Given the description of an element on the screen output the (x, y) to click on. 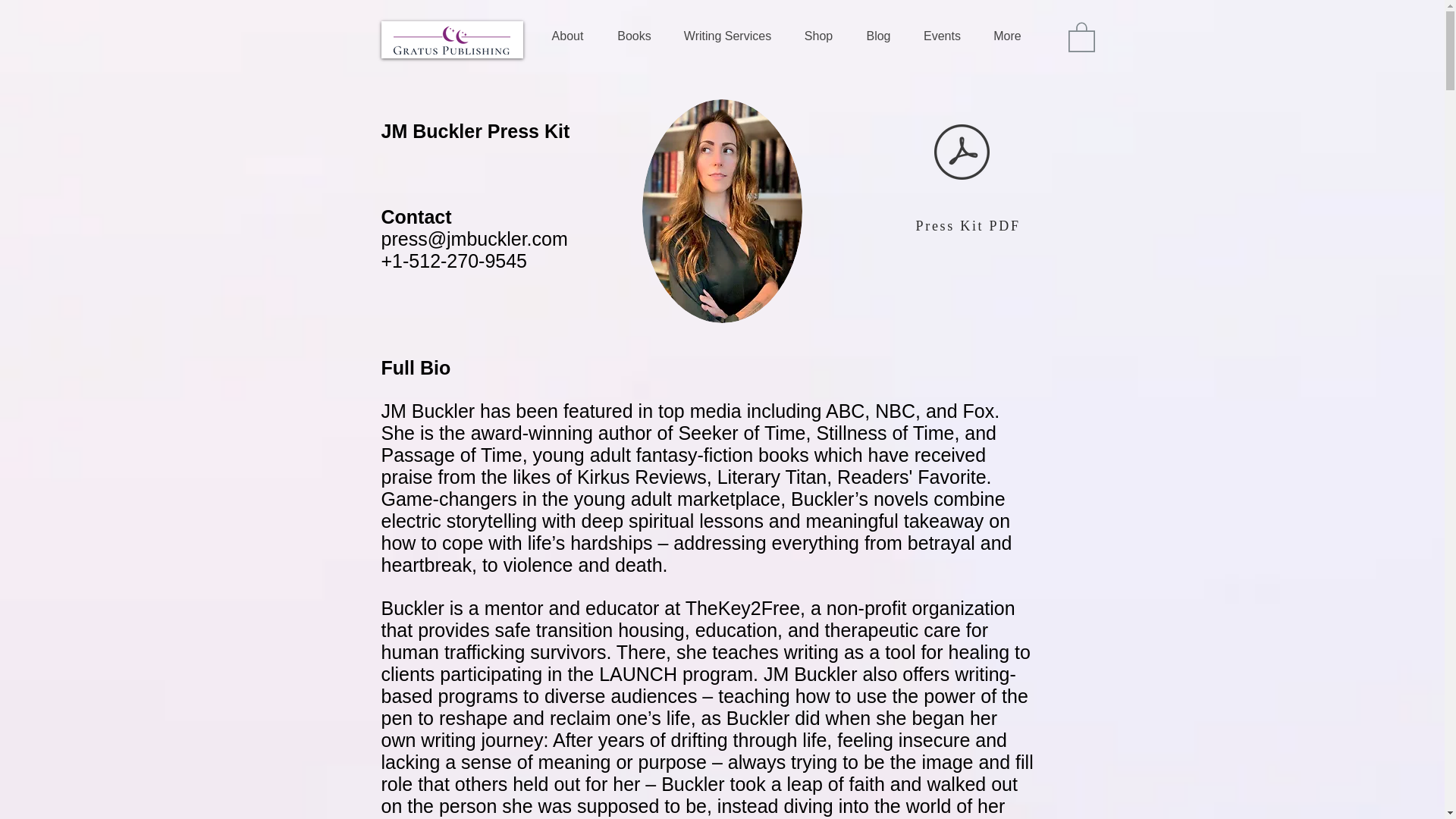
Writing Services (726, 35)
Books (632, 35)
Shop (817, 35)
Blog (877, 35)
Events (941, 35)
Press Kit.pdf (961, 153)
About (566, 35)
